Given the description of an element on the screen output the (x, y) to click on. 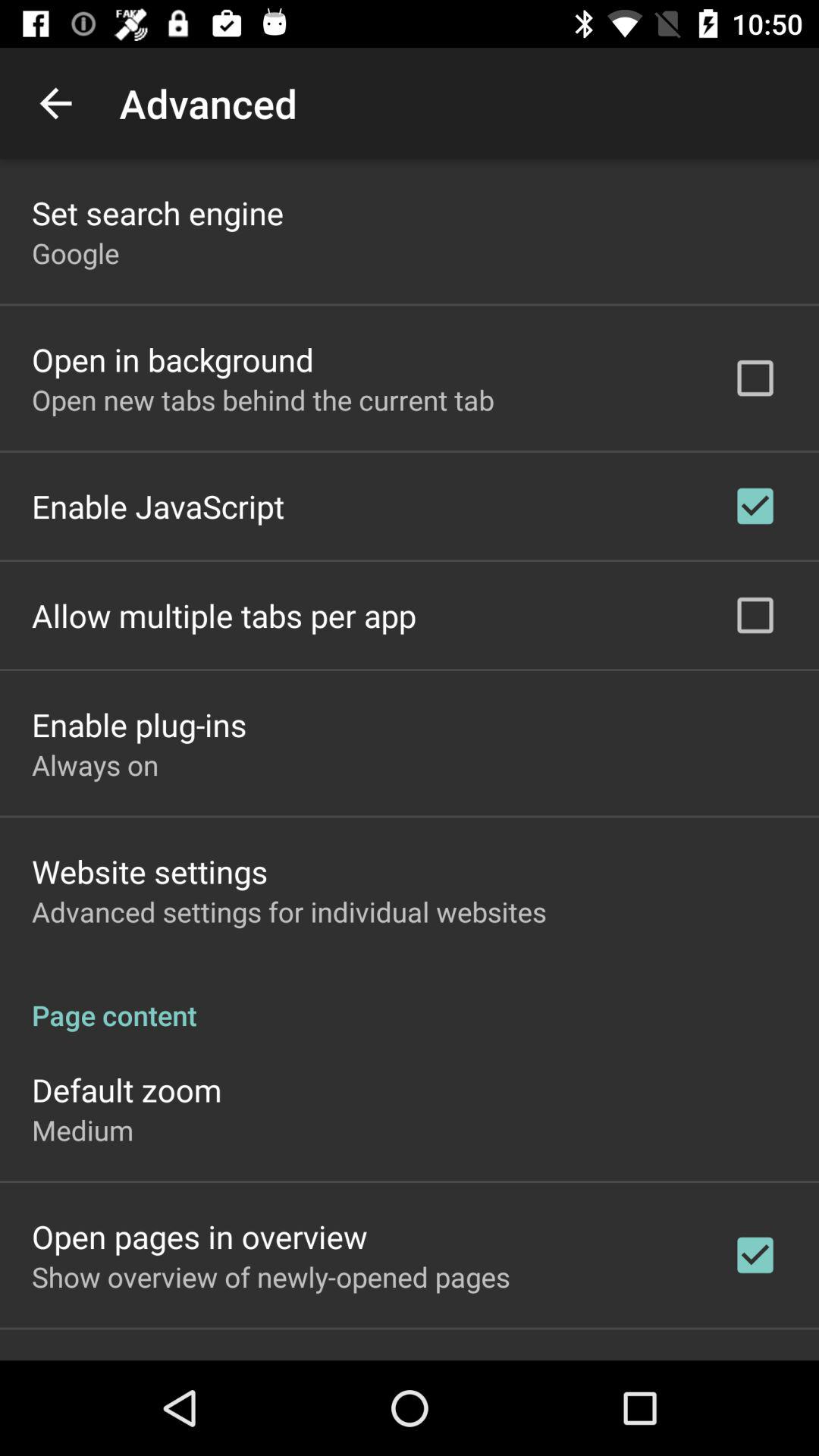
choose the app above the default zoom item (409, 998)
